Given the description of an element on the screen output the (x, y) to click on. 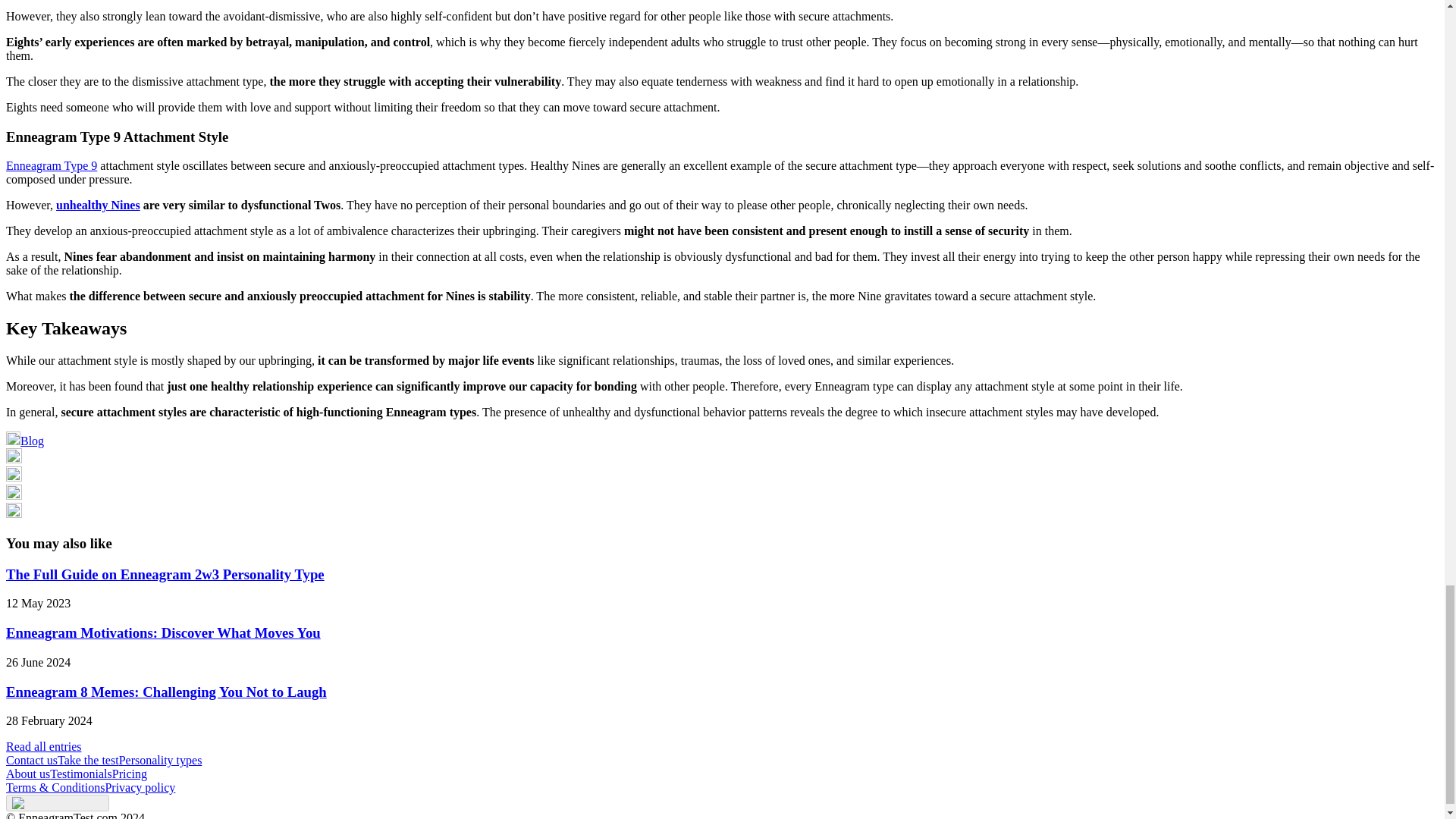
Read all entries (43, 746)
Enneagram Type 9 (51, 164)
Enneagram 8 Memes: Challenging You Not to Laugh (165, 691)
Enneagram Motivations: Discover What Moves You (162, 632)
The Full Guide on Enneagram 2w3 Personality Type (164, 574)
Open accessibility menu (57, 802)
Blog (24, 440)
unhealthy Nines (97, 205)
